Given the description of an element on the screen output the (x, y) to click on. 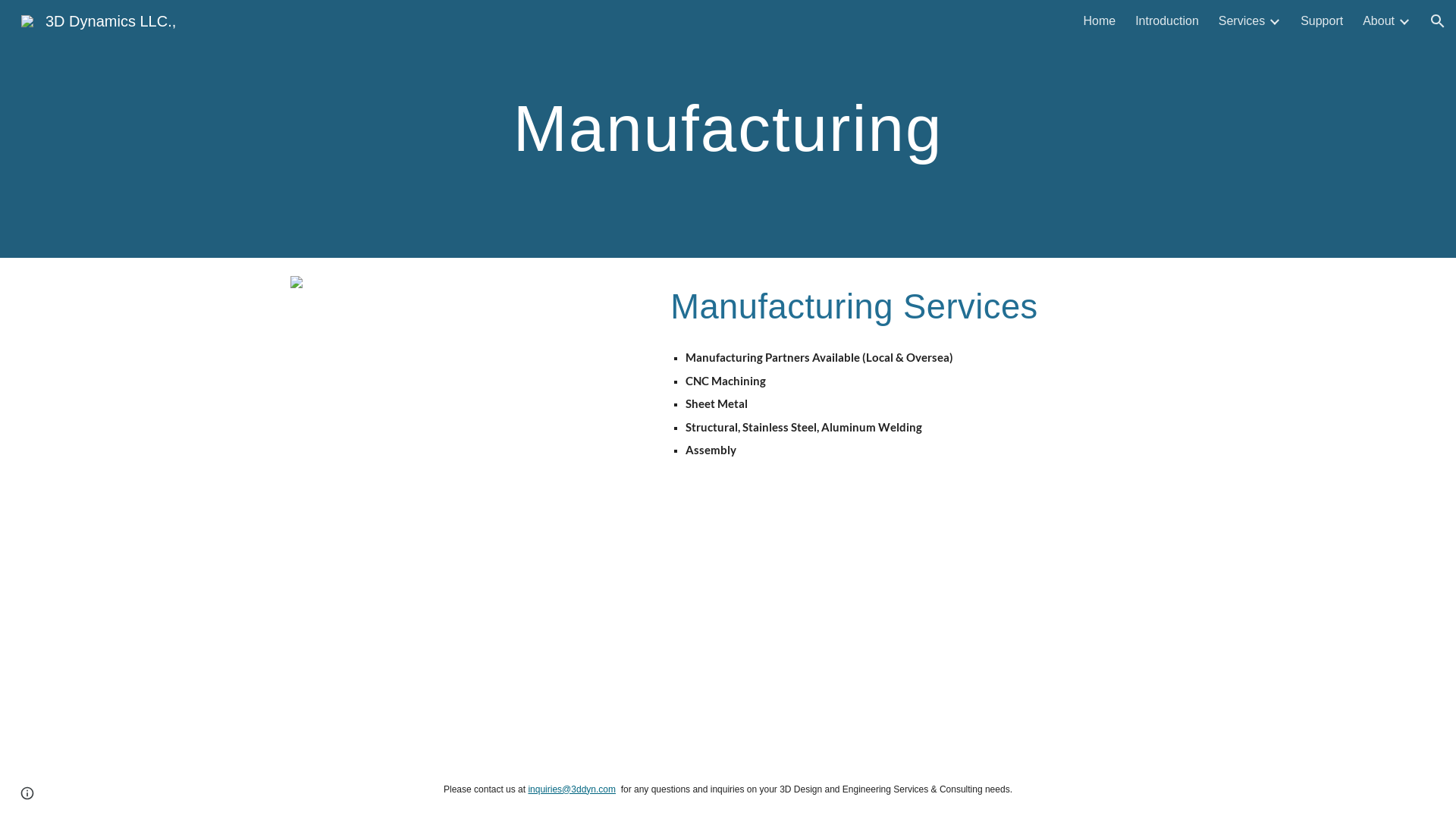
Expand/Collapse Element type: hover (1273, 21)
Home Element type: text (1098, 21)
Services Element type: text (1241, 21)
3D Dynamics LLC., Element type: text (98, 19)
Introduction Element type: text (1166, 21)
inquiries@3ddyn.com Element type: text (571, 789)
Support Element type: text (1321, 21)
About Element type: text (1378, 21)
Expand/Collapse Element type: hover (1403, 21)
